Given the description of an element on the screen output the (x, y) to click on. 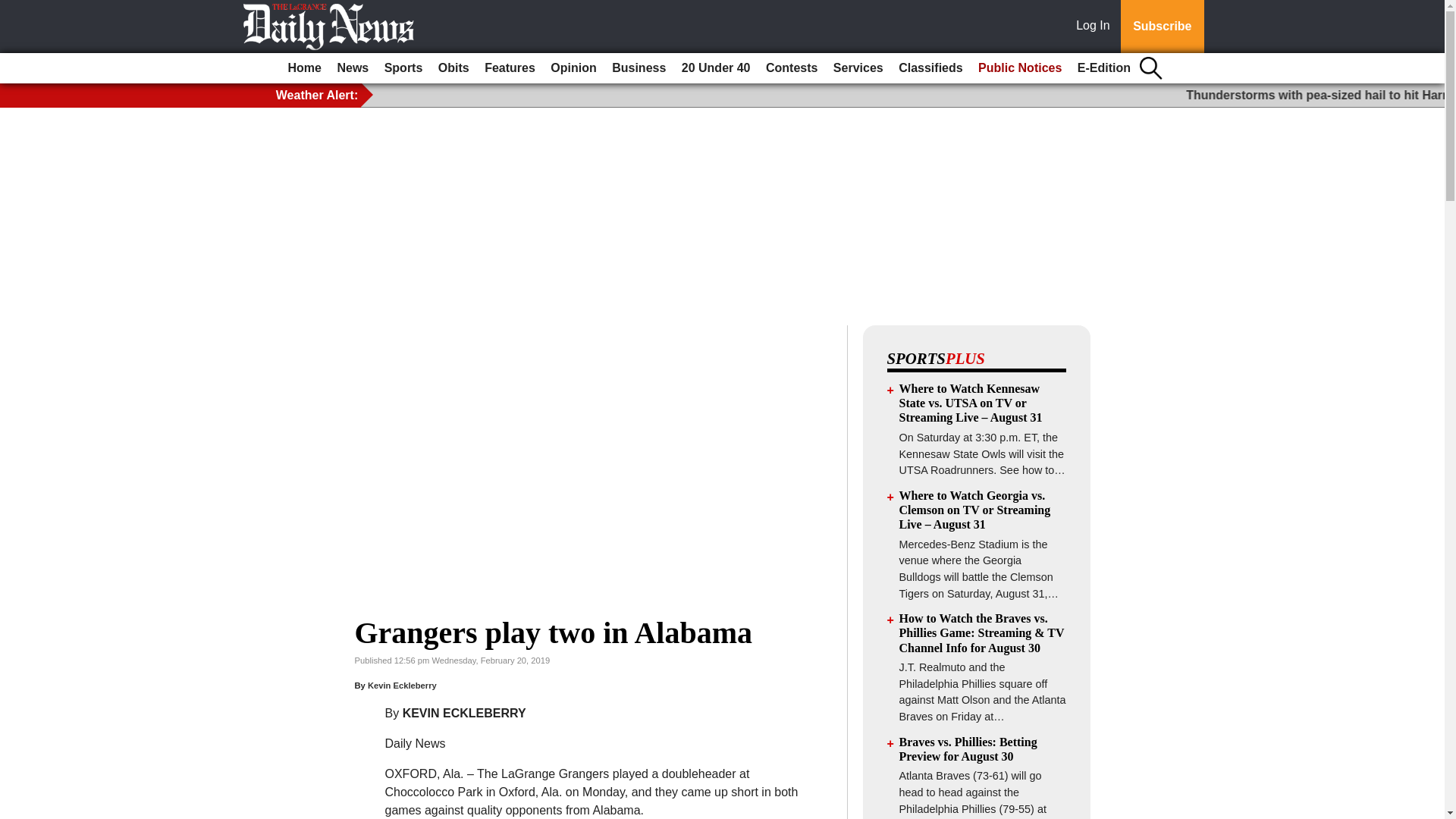
Subscribe (1162, 26)
Log In (1095, 26)
Services (858, 68)
Braves vs. Phillies: Betting Preview for August 30 (967, 748)
E-Edition (1104, 68)
Business (638, 68)
Sports (403, 68)
Obits (454, 68)
Kevin Eckleberry (402, 685)
Home (304, 68)
